Given the description of an element on the screen output the (x, y) to click on. 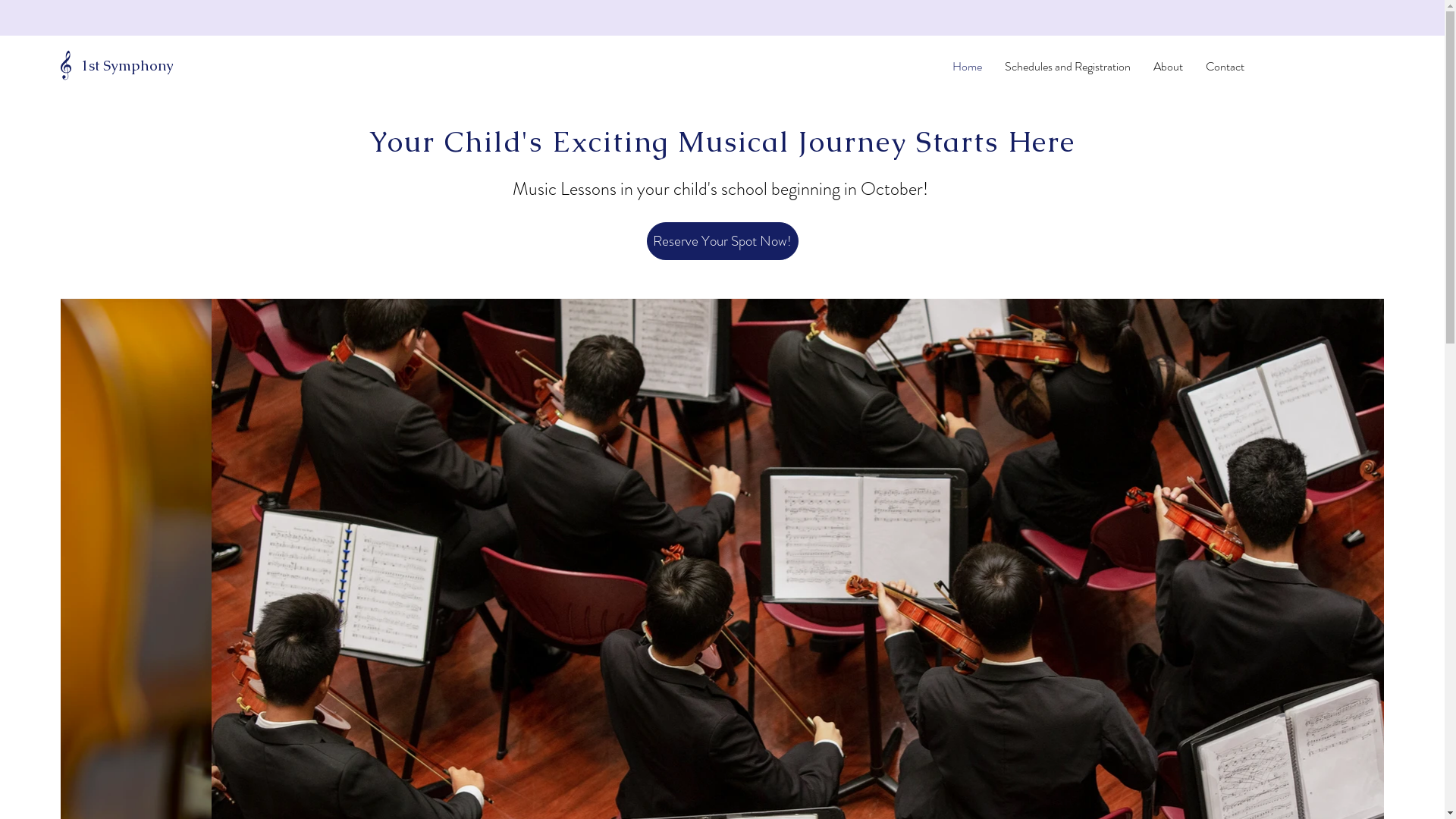
Reserve Your Spot Now! Element type: text (721, 241)
Contact Element type: text (1224, 66)
Home Element type: text (967, 66)
About Element type: text (1168, 66)
1st Symphony Element type: text (127, 65)
Schedules and Registration Element type: text (1067, 66)
